Given the description of an element on the screen output the (x, y) to click on. 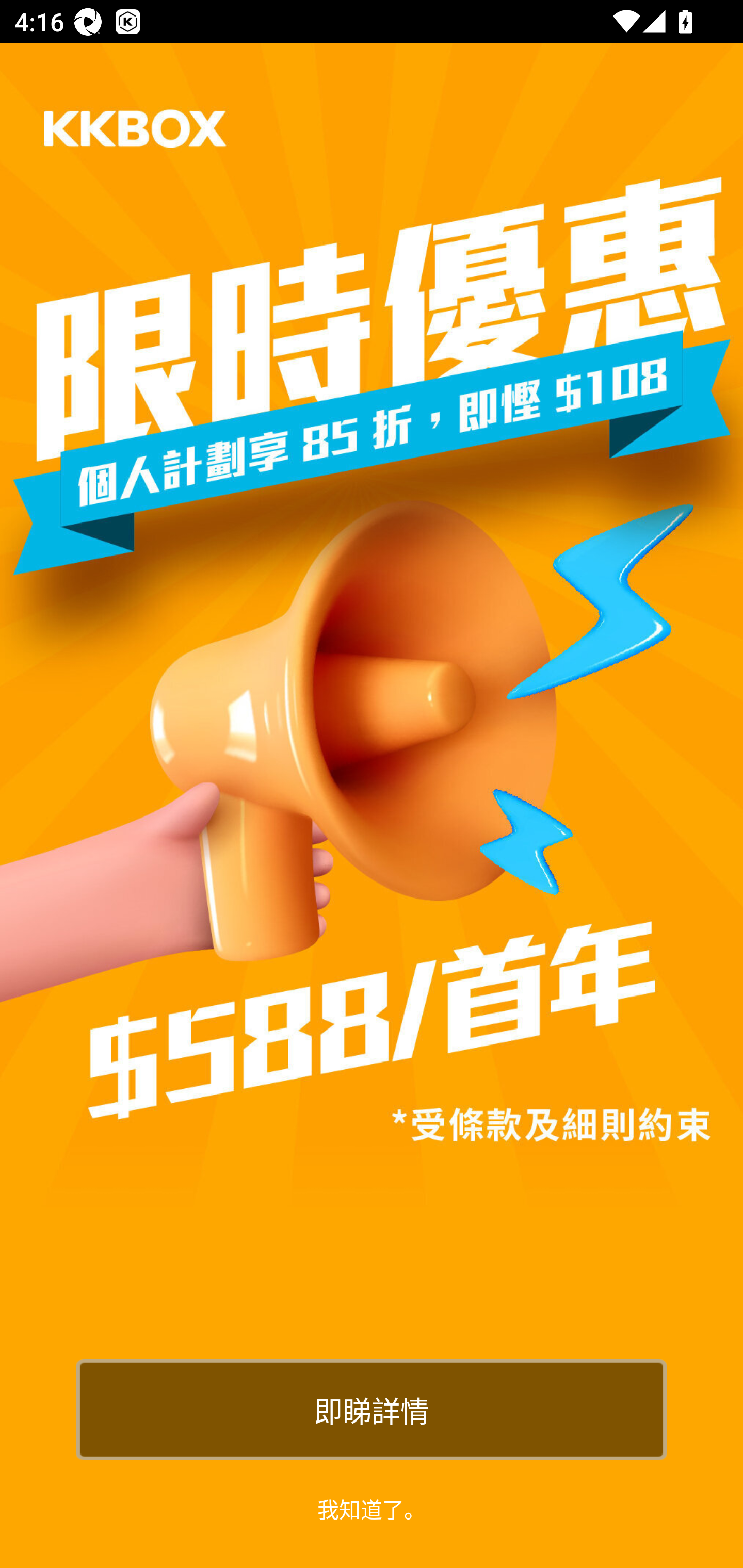
即睇詳情 (371, 1409)
我知道了。 (371, 1508)
